Given the description of an element on the screen output the (x, y) to click on. 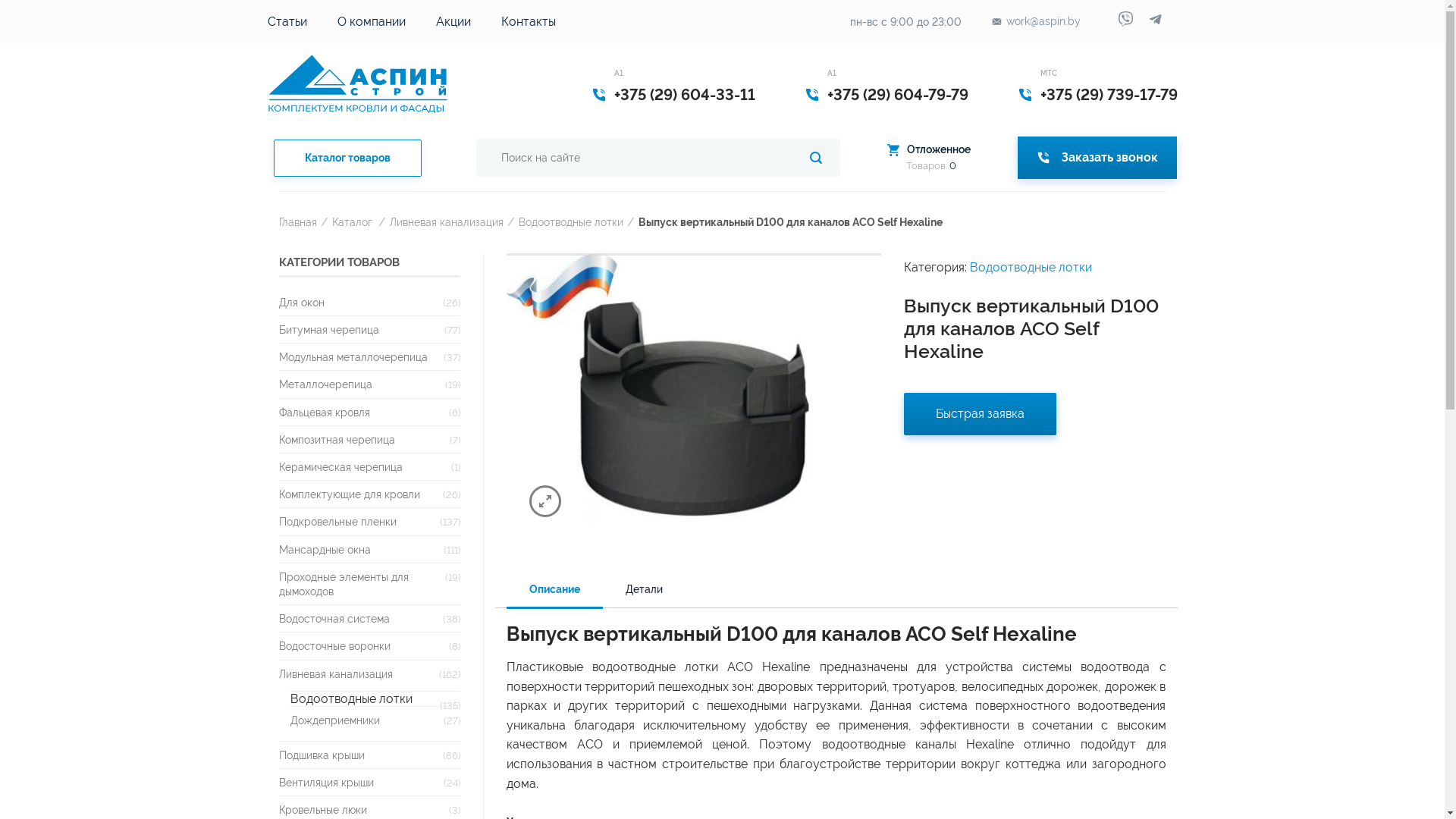
+375 (29) 604-33-11 Element type: text (684, 94)
work@aspin.by Element type: text (1035, 21)
+375 (29) 604-79-79 Element type: text (896, 94)
vypusk-vertikalnyy-d100-dlya-kanalov-aco-self-hexaline Element type: hover (693, 396)
+375 (29) 739-17-79 Element type: text (1108, 94)
